Given the description of an element on the screen output the (x, y) to click on. 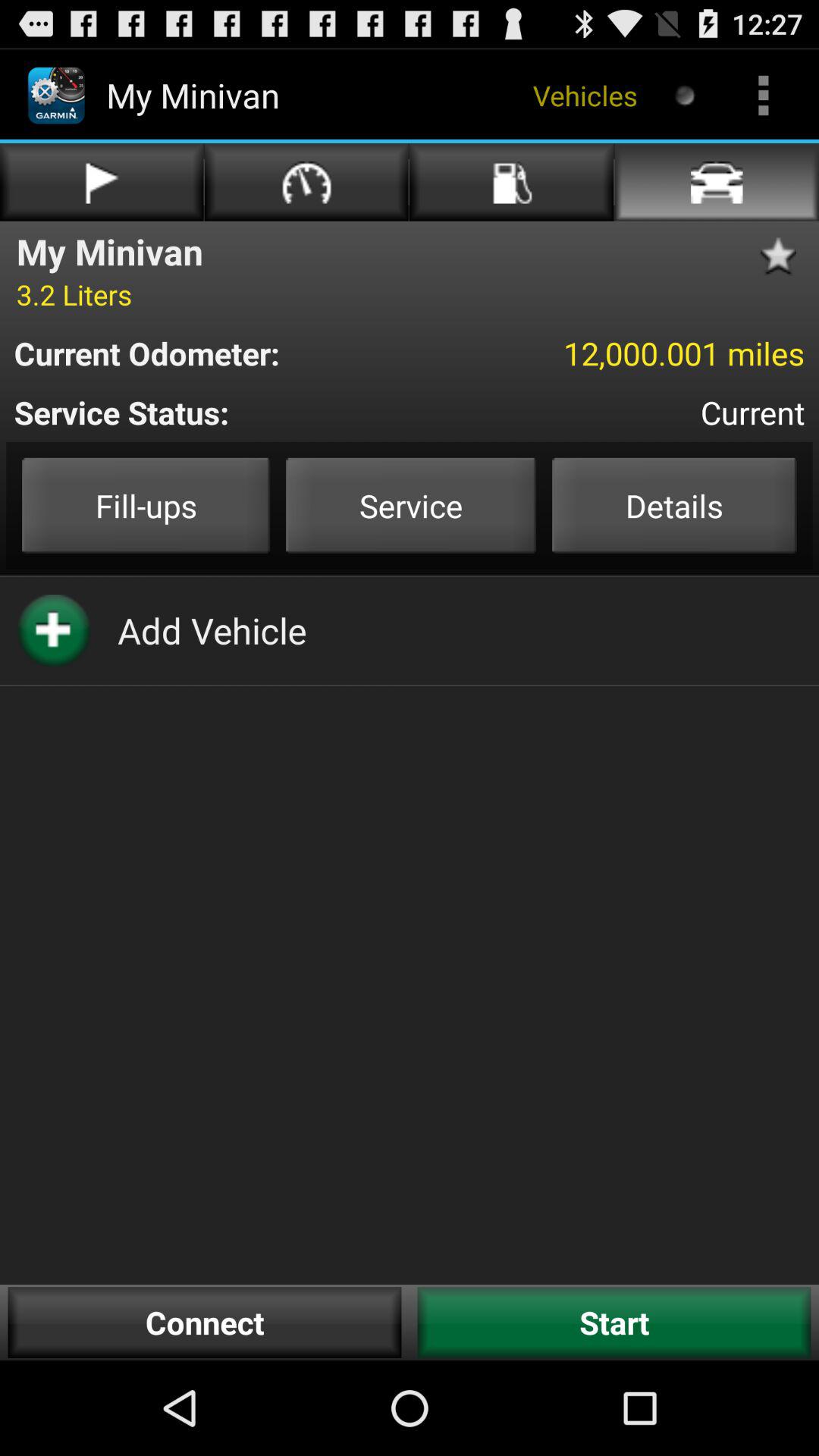
choose the button to the left of start button (204, 1322)
